Given the description of an element on the screen output the (x, y) to click on. 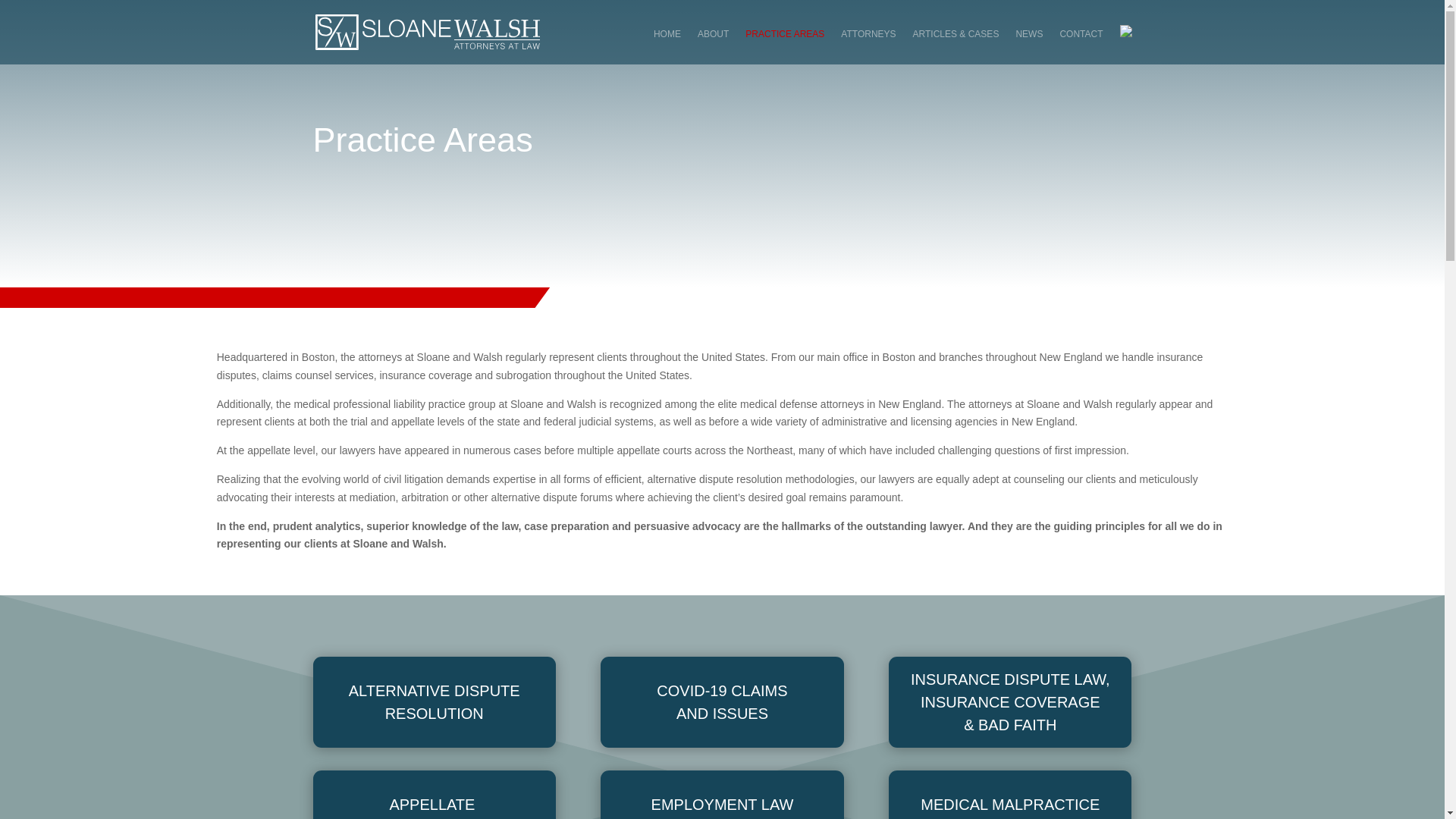
PRACTICE AREAS (784, 46)
CONTACT (1080, 46)
ATTORNEYS (868, 46)
